Given the description of an element on the screen output the (x, y) to click on. 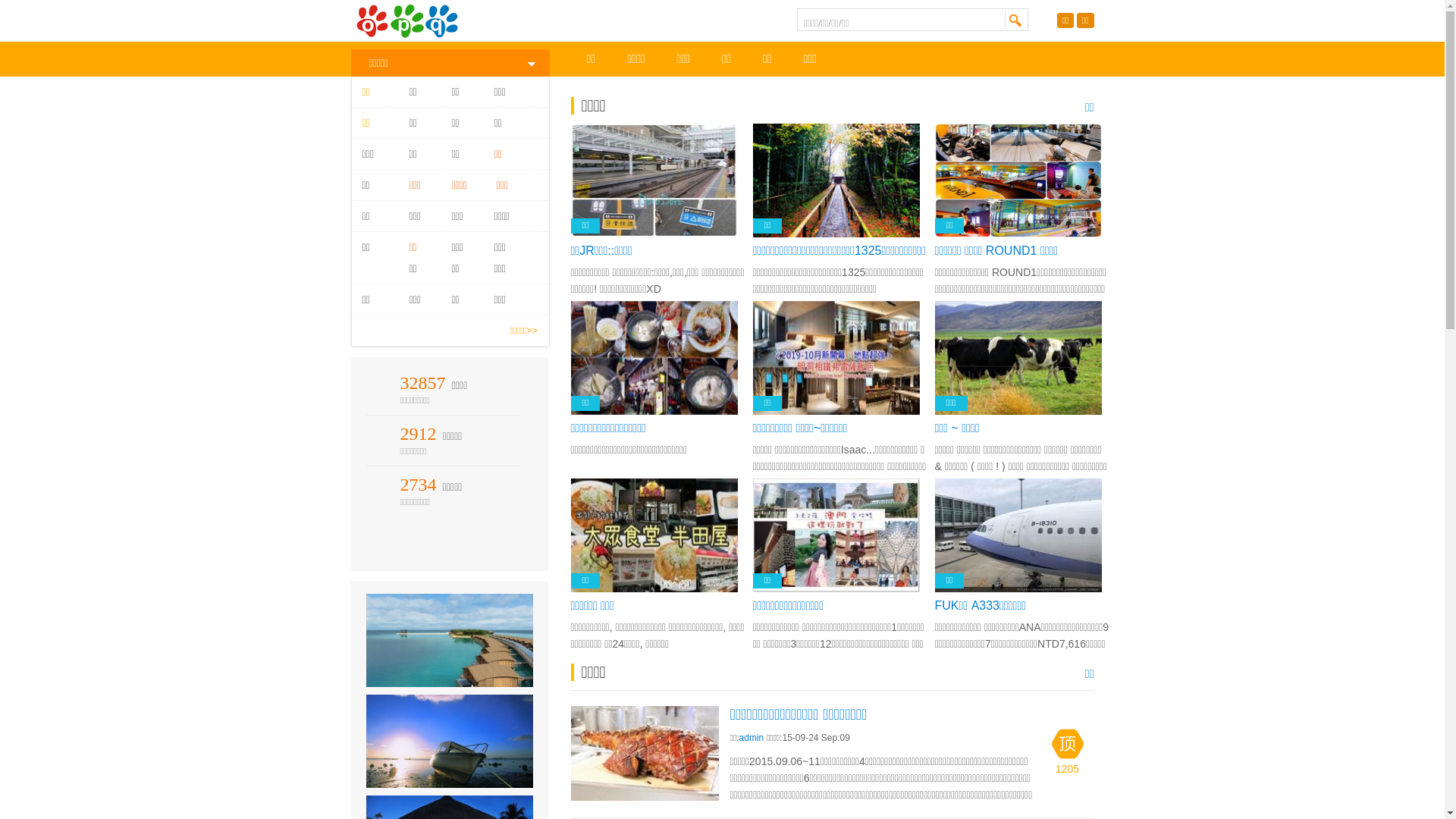
32857 Element type: text (422, 382)
2912 Element type: text (418, 433)
admin Element type: text (751, 737)
2734 Element type: text (418, 484)
  Element type: text (1015, 20)
